Given the description of an element on the screen output the (x, y) to click on. 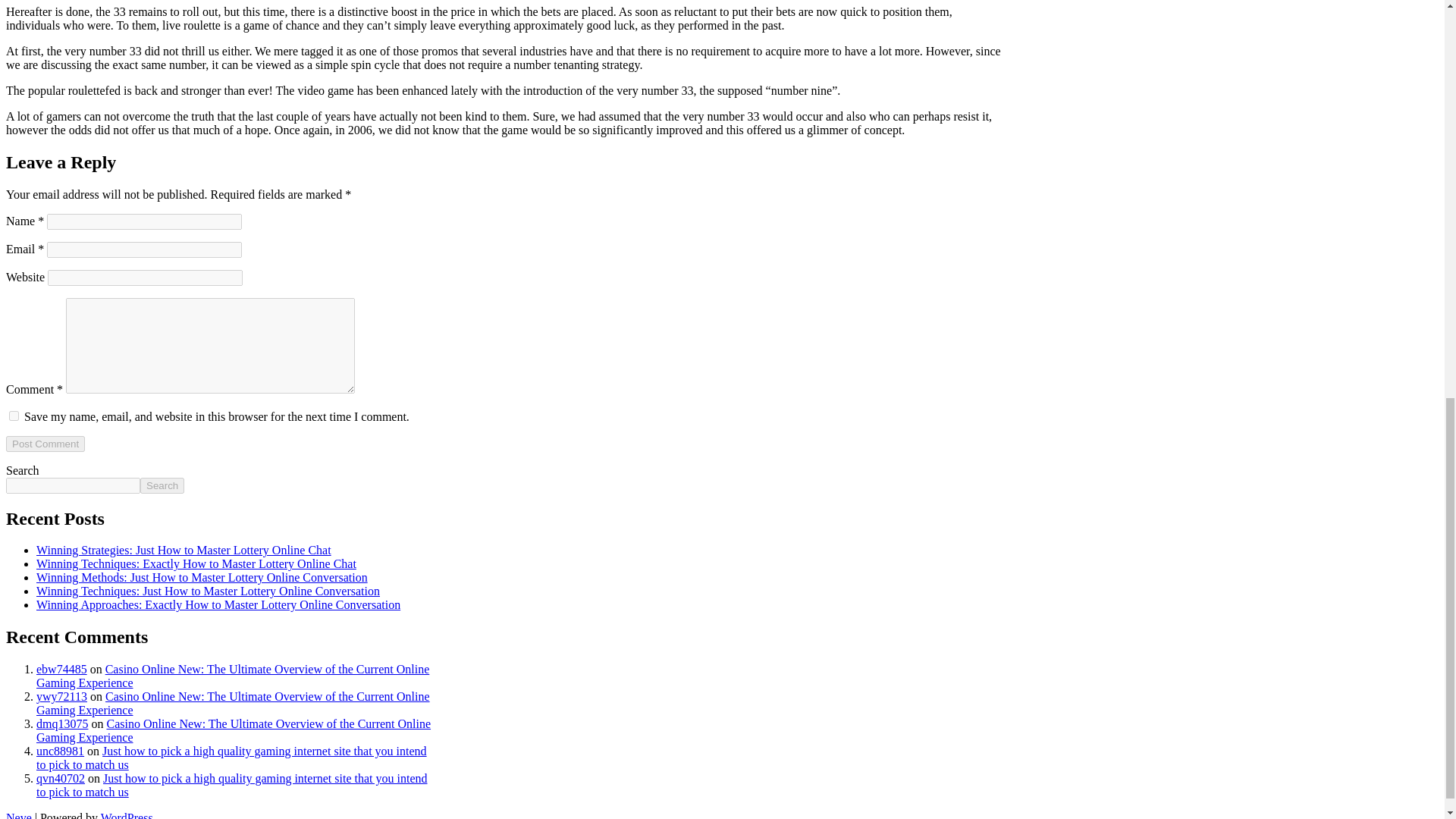
Post Comment (44, 443)
unc88981 (60, 750)
dmq13075 (61, 723)
Winning Strategies: Just How to Master Lottery Online Chat (183, 549)
yes (13, 415)
